Given the description of an element on the screen output the (x, y) to click on. 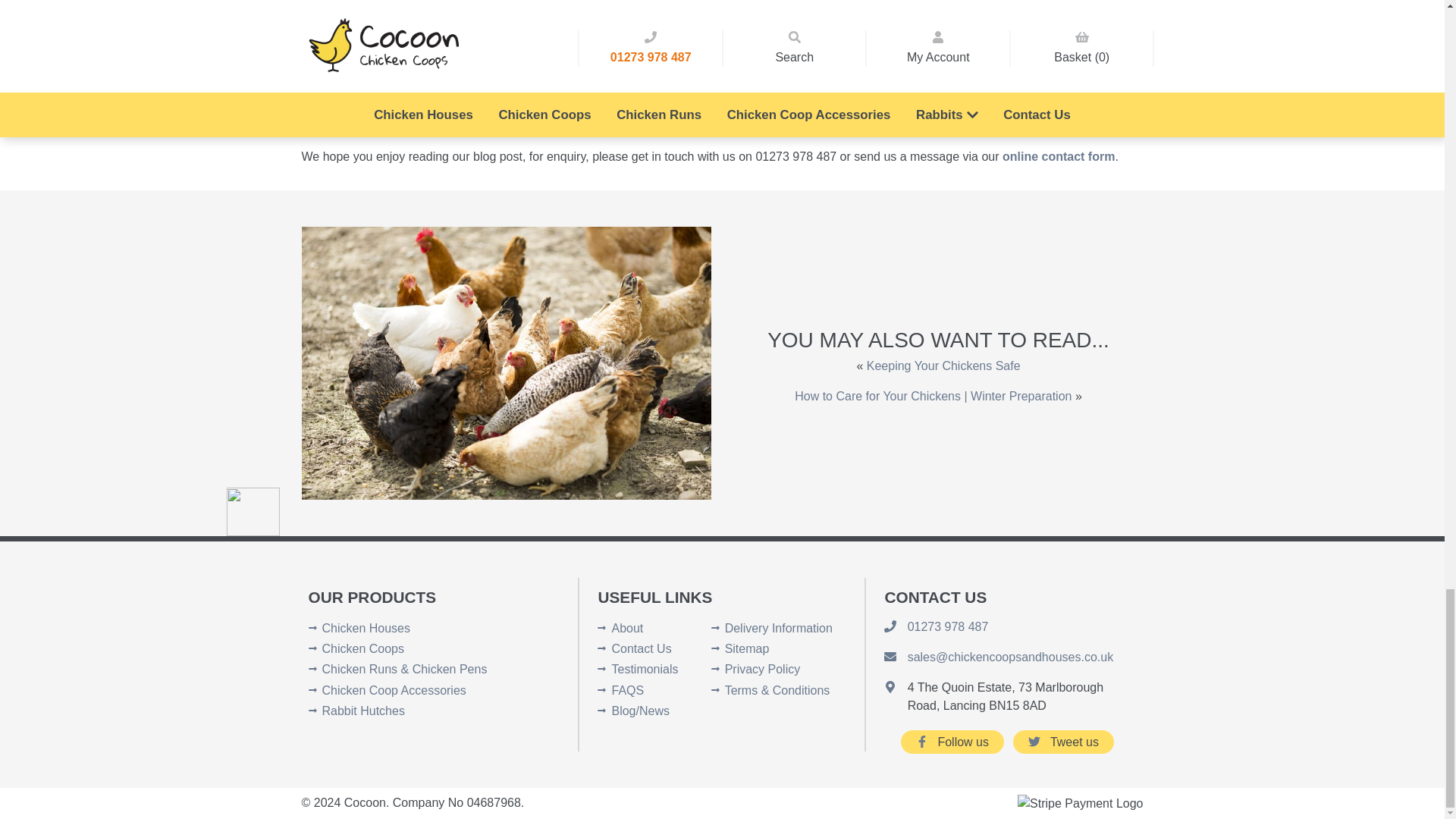
Chicken Coop Accessories (393, 689)
Sitemap (747, 648)
Keeping Your Chickens Safe (943, 365)
Delivery Information (778, 627)
FAQS (627, 689)
Chicken Houses (365, 627)
Contact Us (641, 648)
online contact form (1059, 155)
Rabbit Hutches (362, 710)
About (627, 627)
